Given the description of an element on the screen output the (x, y) to click on. 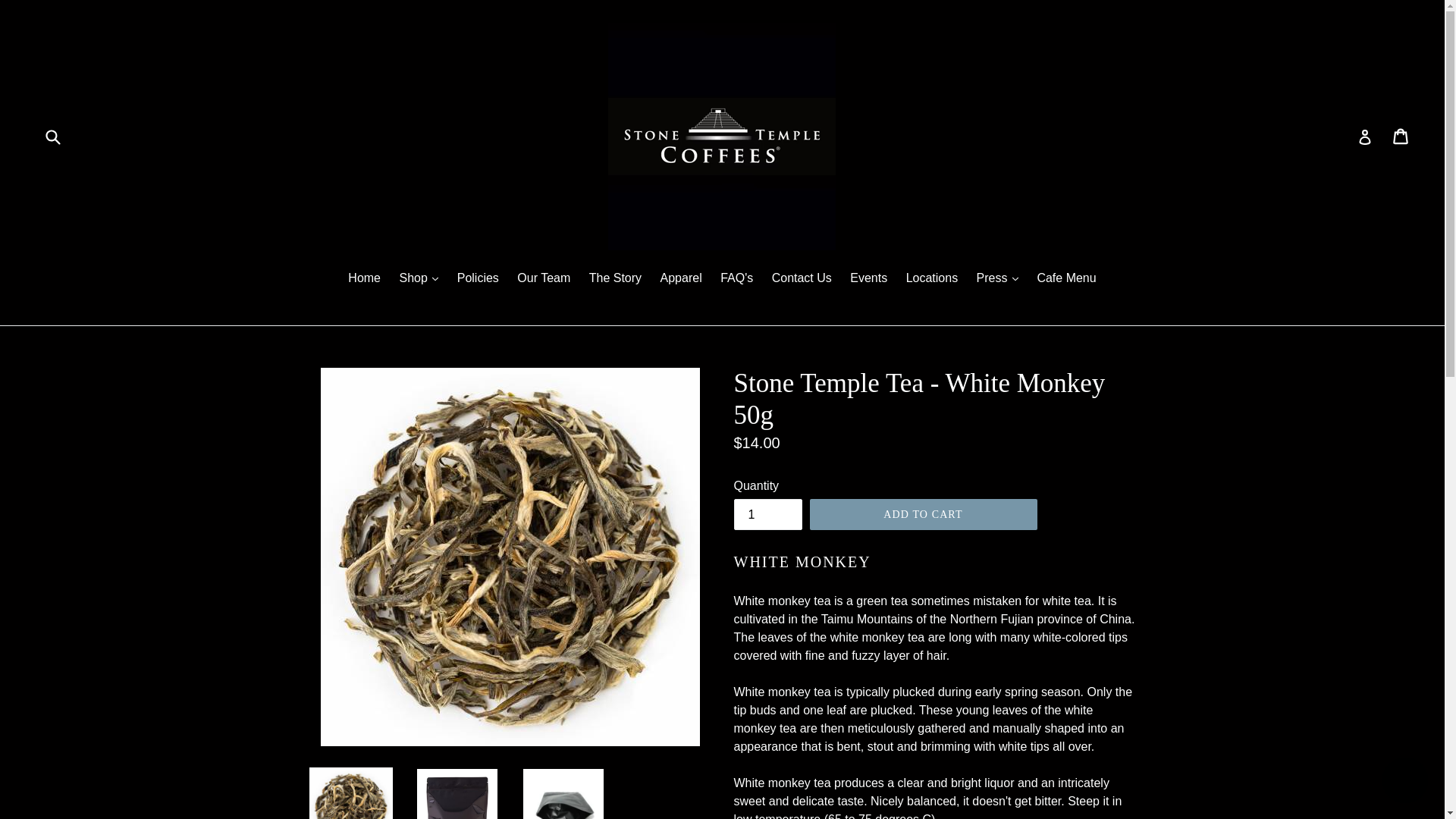
Shopify online store chat (1404, 781)
1 (767, 513)
